Given the description of an element on the screen output the (x, y) to click on. 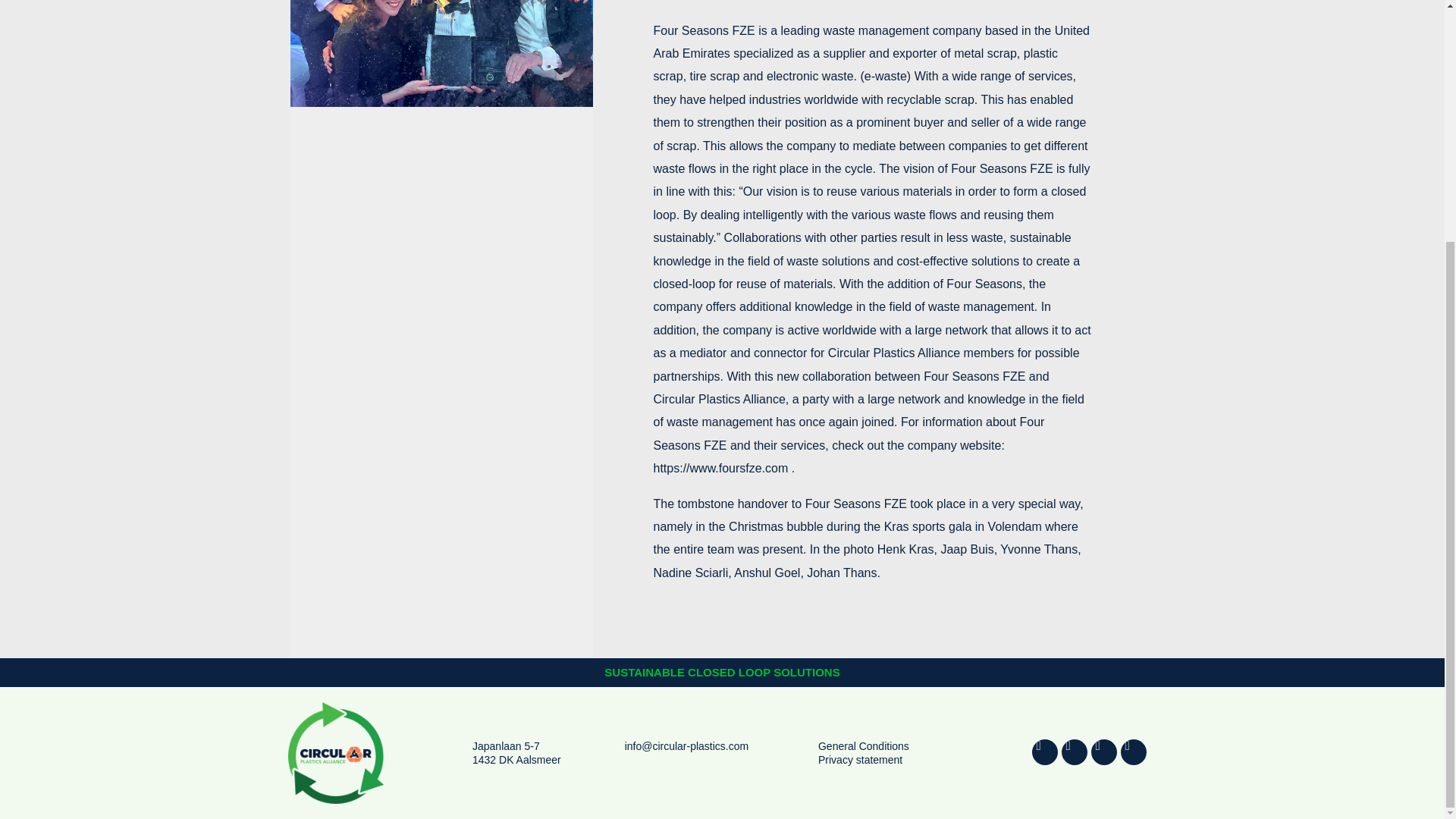
Privacy statement (860, 759)
Japanlaan 5-7 (505, 746)
1432 DK Aalsmeer (515, 759)
General Conditions (863, 746)
